Given the description of an element on the screen output the (x, y) to click on. 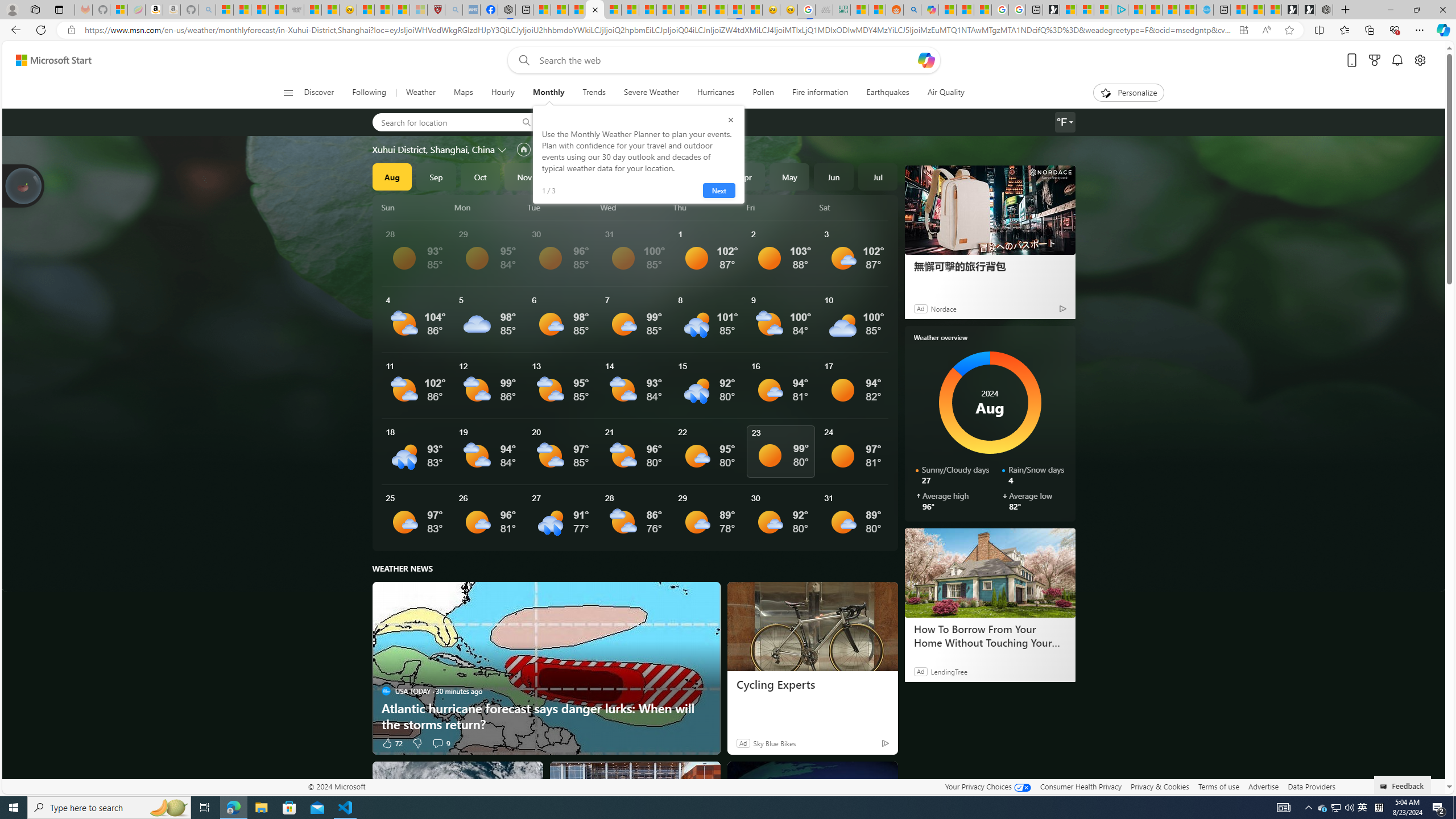
Monthly (548, 92)
Sat (853, 207)
Aberdeen (581, 121)
Mon (489, 207)
Earthquakes (887, 92)
Data Providers (1311, 785)
